Given the description of an element on the screen output the (x, y) to click on. 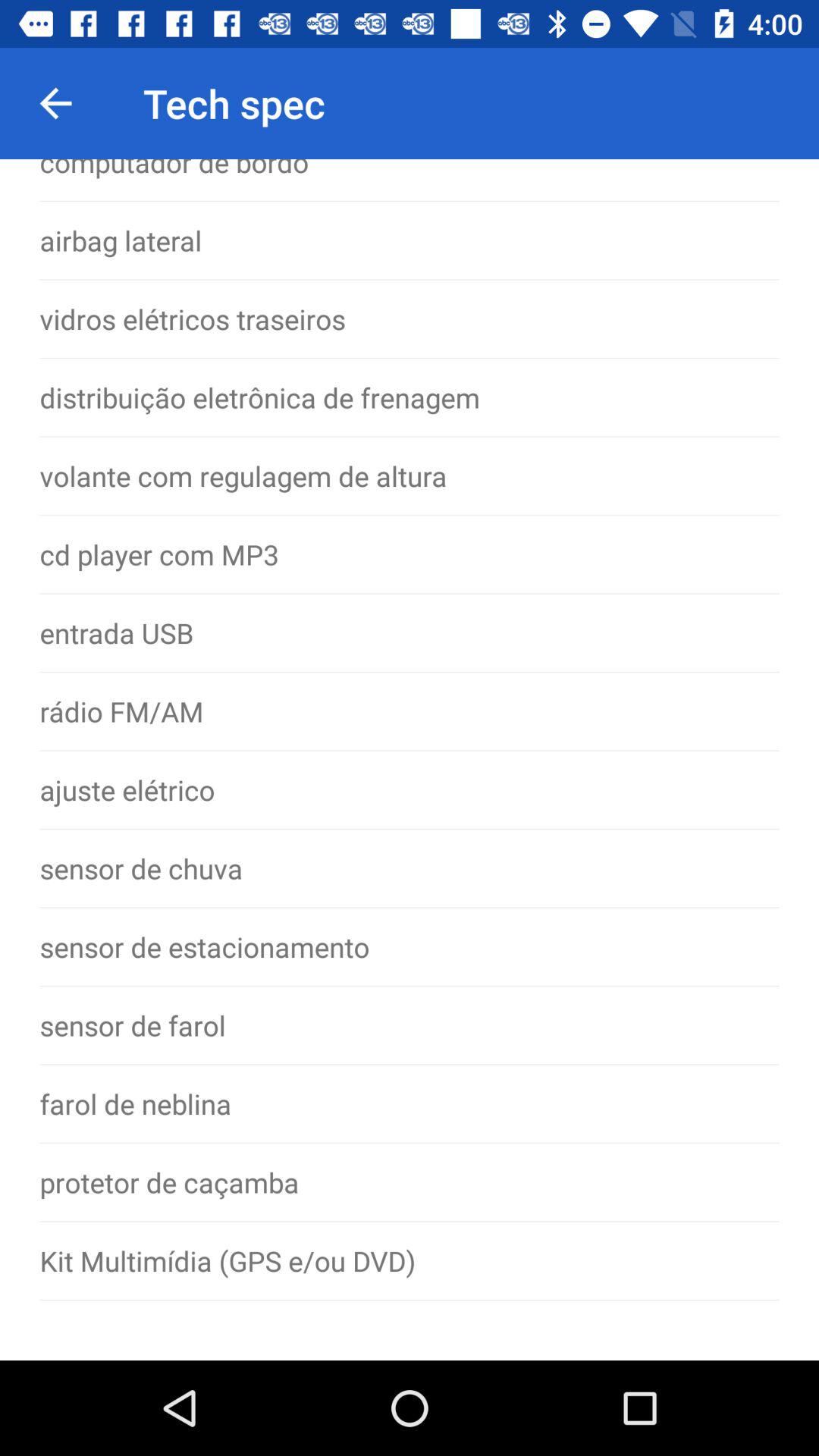
choose the icon next to tech spec icon (55, 103)
